Given the description of an element on the screen output the (x, y) to click on. 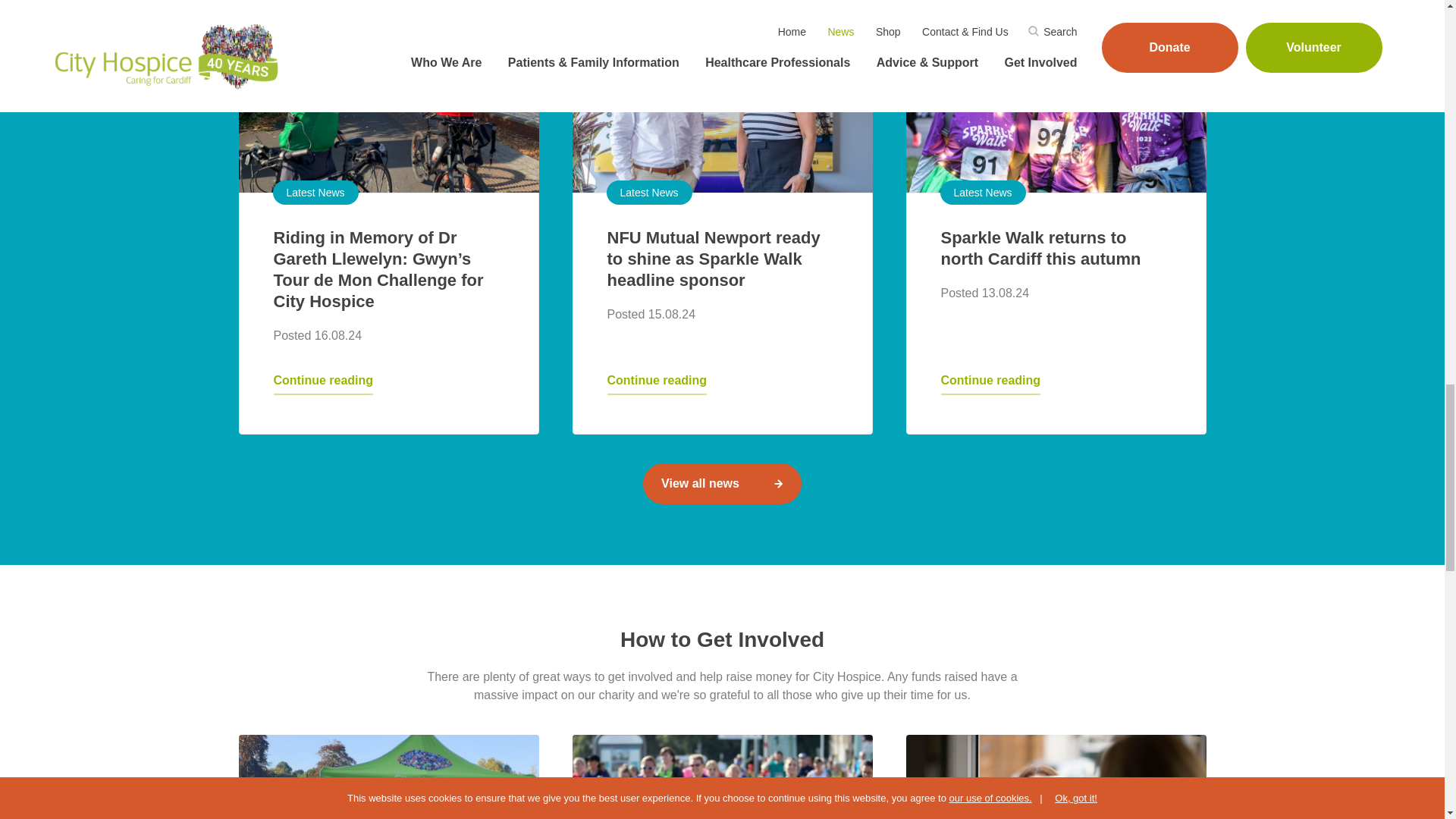
Continue reading (656, 382)
Sparkle Walk returns to north Cardiff this autumn (1055, 96)
Continue reading (322, 382)
Continue reading (990, 382)
Sparkle Walk returns to north Cardiff this autumn (1040, 248)
